Given the description of an element on the screen output the (x, y) to click on. 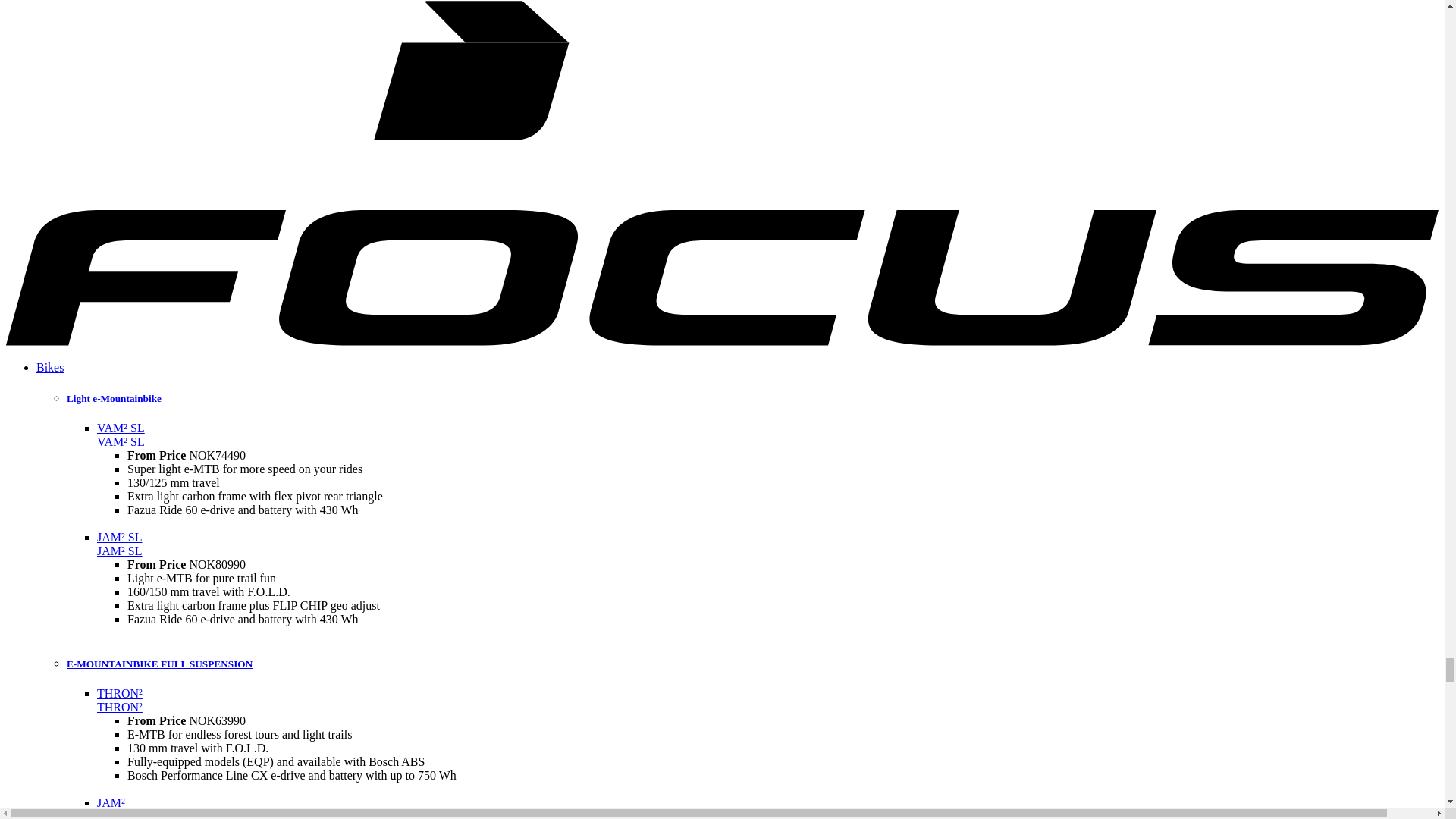
Bikes (50, 367)
